Given the description of an element on the screen output the (x, y) to click on. 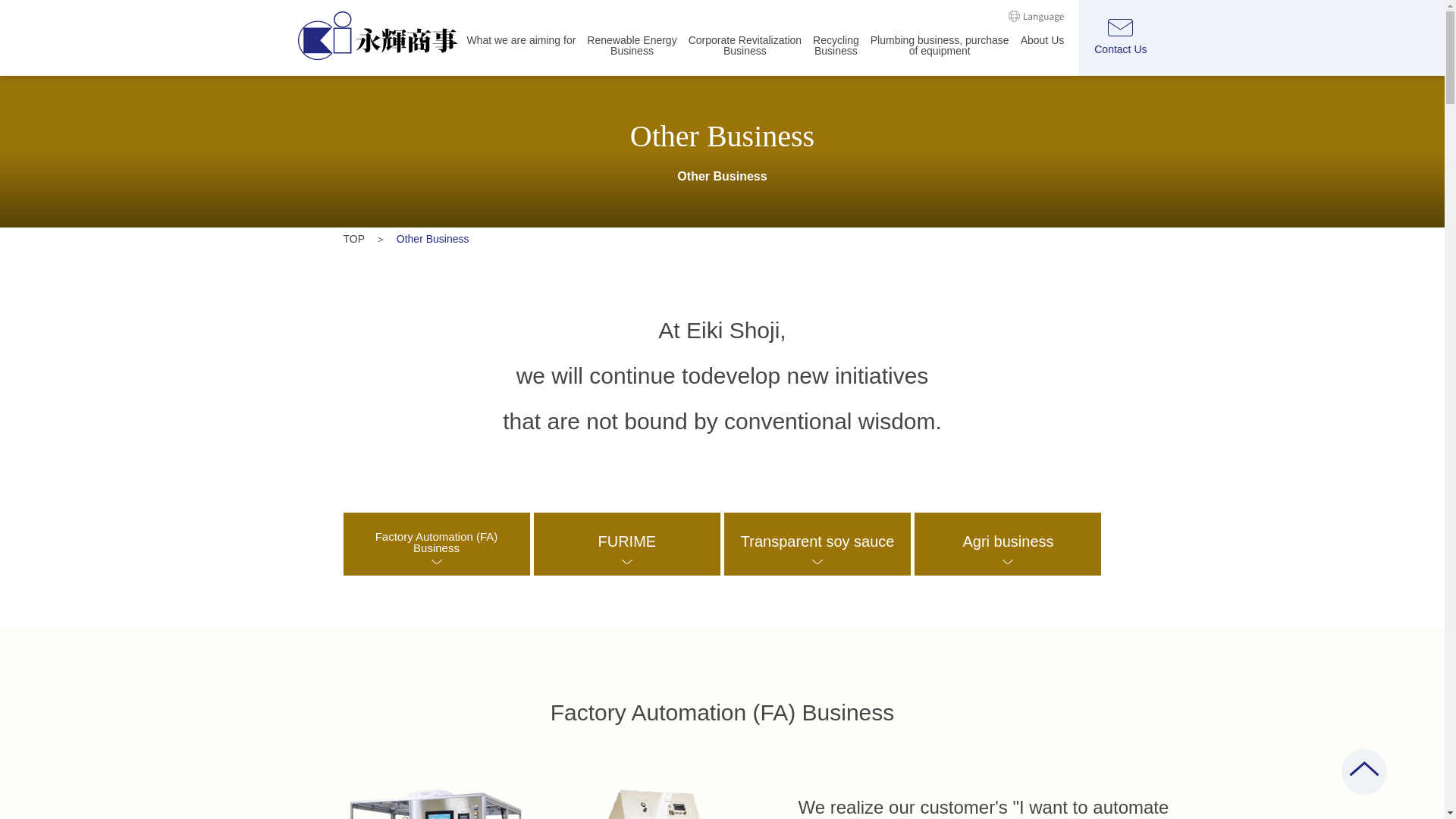
About Us (835, 60)
What we are aiming for (939, 60)
Contact Us (1042, 55)
